Given the description of an element on the screen output the (x, y) to click on. 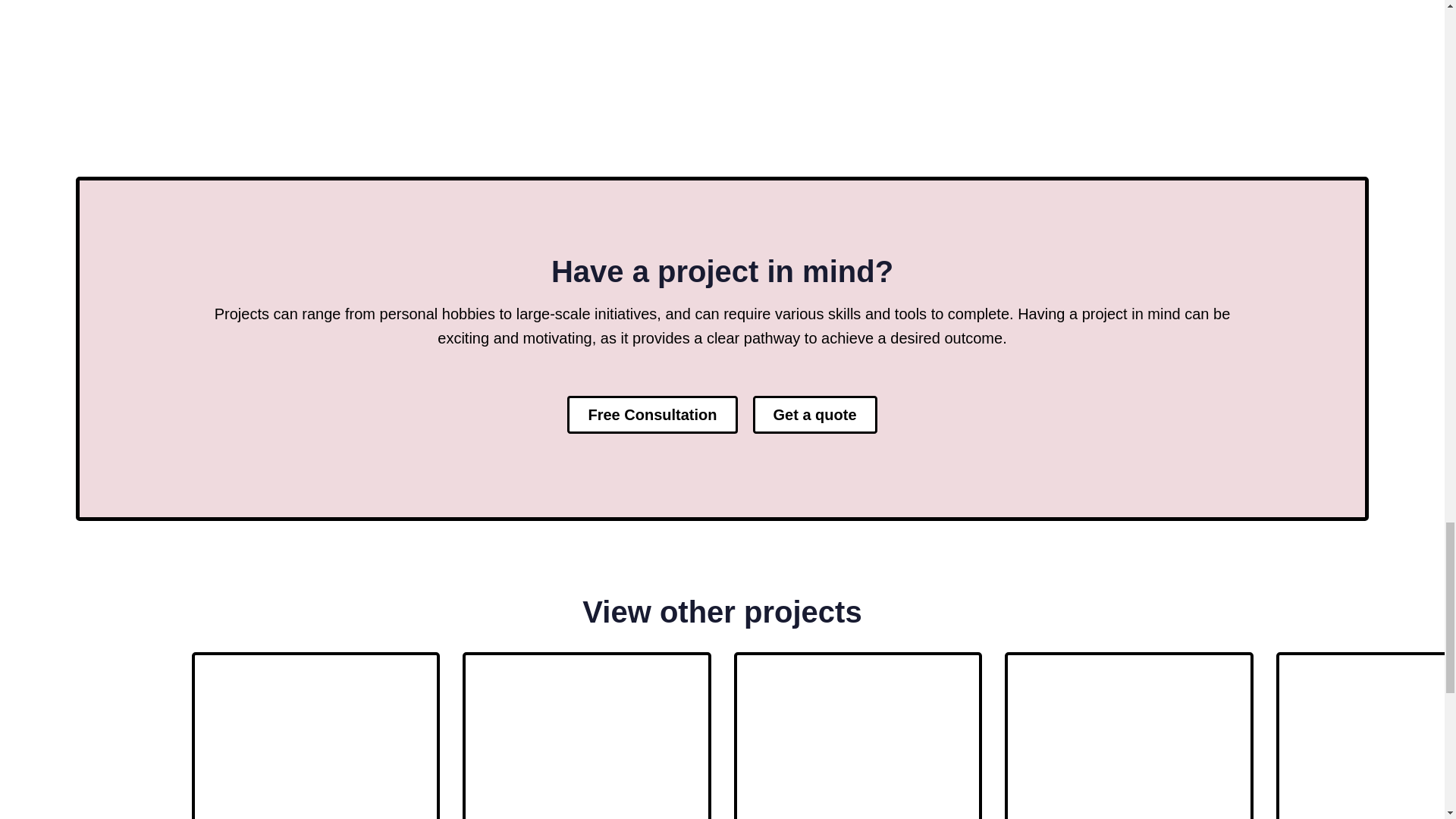
Get a quote (814, 414)
Free Consultation (651, 414)
